Given the description of an element on the screen output the (x, y) to click on. 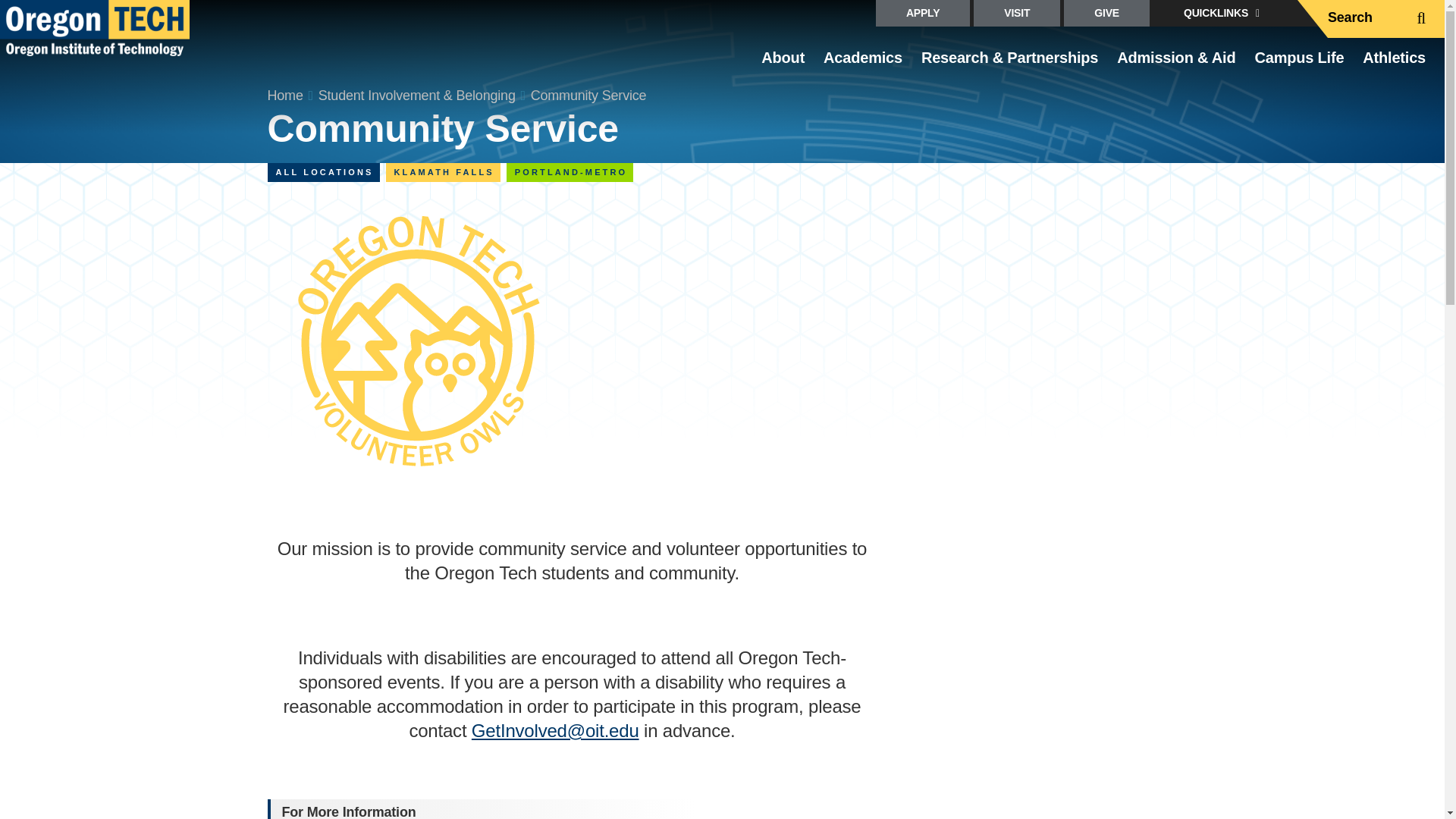
About (783, 64)
GIVE (1107, 13)
VISIT (1016, 13)
APPLY (922, 13)
Academics (863, 64)
